Given the description of an element on the screen output the (x, y) to click on. 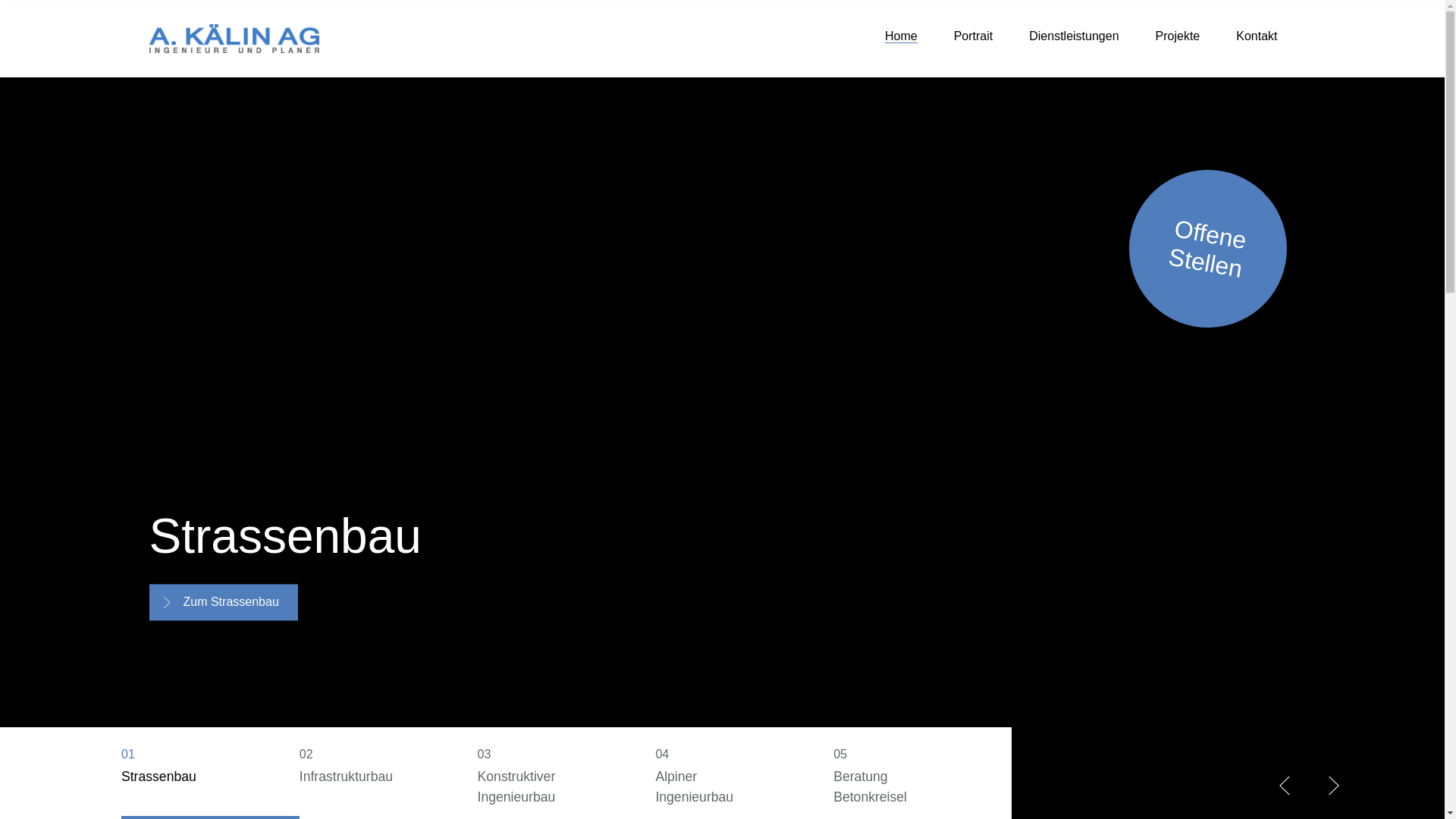
Zum Beratung Betonkreisel Element type: text (248, 601)
Kontakt Element type: text (1256, 35)
Portrait Element type: text (973, 35)
Dienstleistungen Element type: text (1073, 35)
Offene
Stellen Element type: text (1195, 236)
Home Element type: text (900, 36)
Projekte Element type: text (1177, 35)
Zum Strassenbau Element type: text (222, 601)
